Given the description of an element on the screen output the (x, y) to click on. 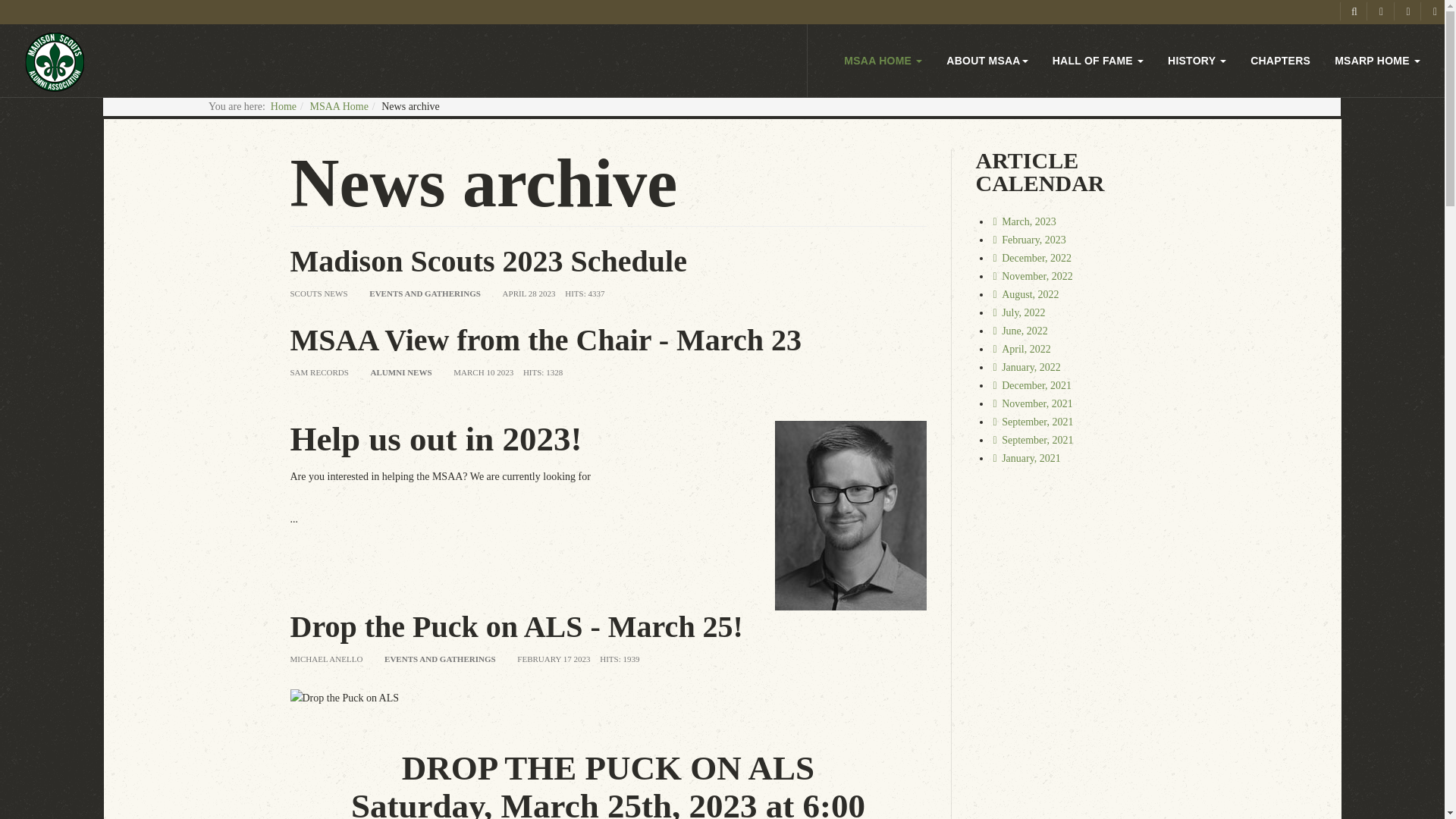
Drop the Puck on ALS - March 25! (515, 626)
Category:  (401, 372)
Category:  (424, 293)
MSAA View from the Chair - March 23 (544, 339)
Written by:  (325, 658)
Published:  (482, 372)
Madison Scouts Alumni Association (54, 61)
Search (1350, 11)
Written by:  (318, 372)
Instagram (1405, 11)
